Given the description of an element on the screen output the (x, y) to click on. 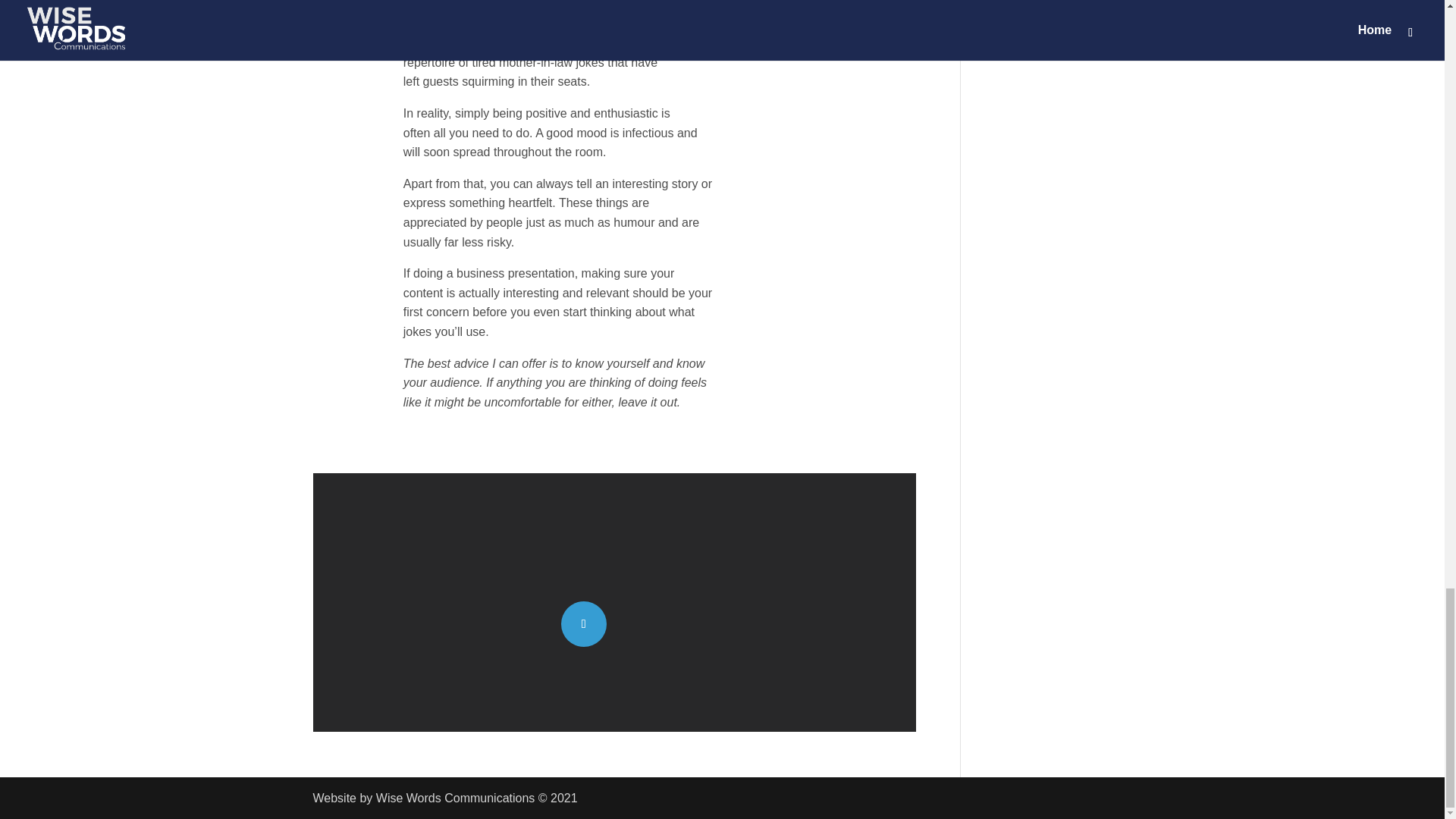
Follow on LinkedIn (583, 624)
